Given the description of an element on the screen output the (x, y) to click on. 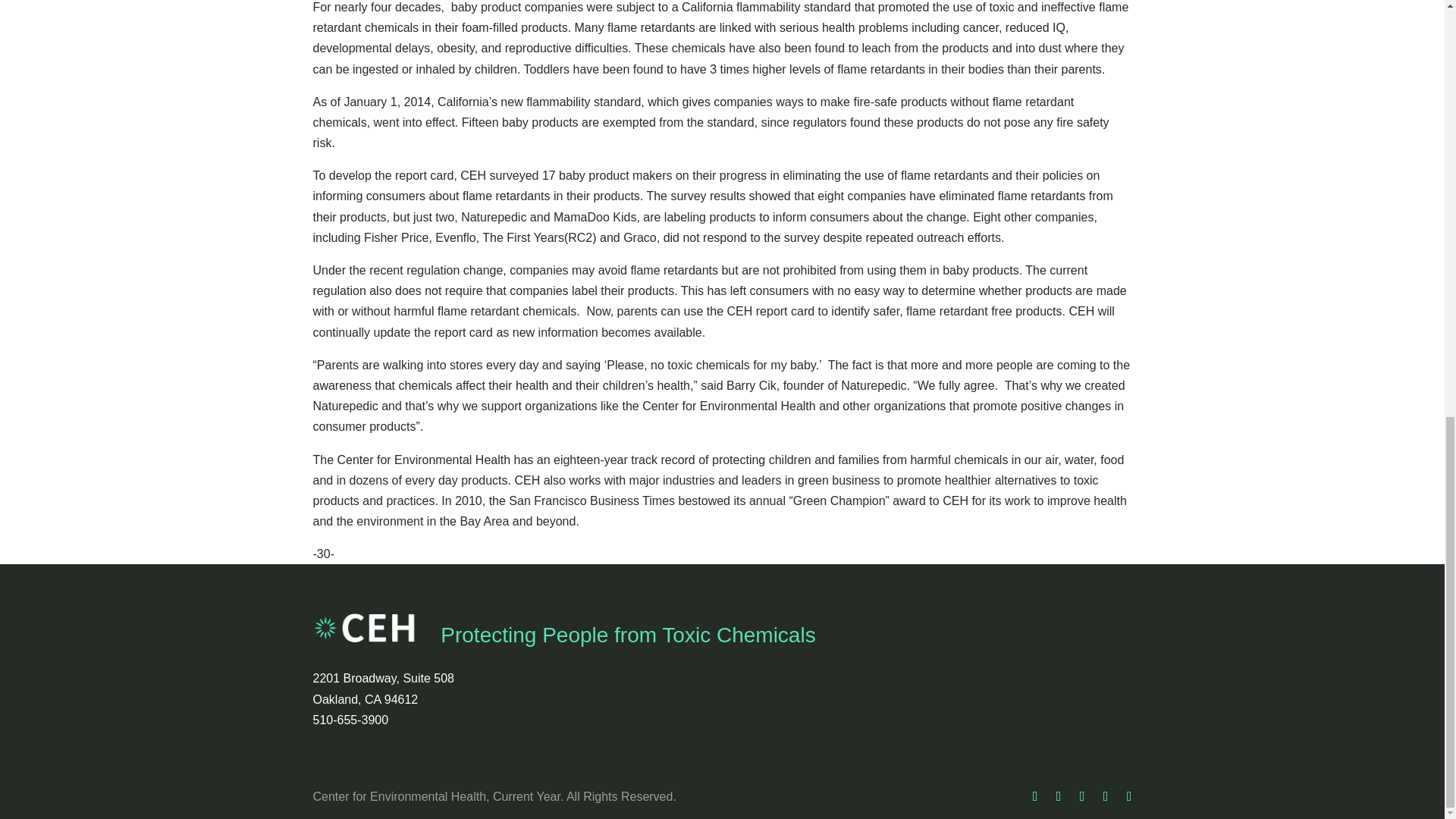
Opens in a new window (1059, 796)
Opens in a new window (1105, 796)
Opens in a new window (1082, 796)
Opens in a new window (1035, 796)
Opens in a new window (1129, 796)
